Given the description of an element on the screen output the (x, y) to click on. 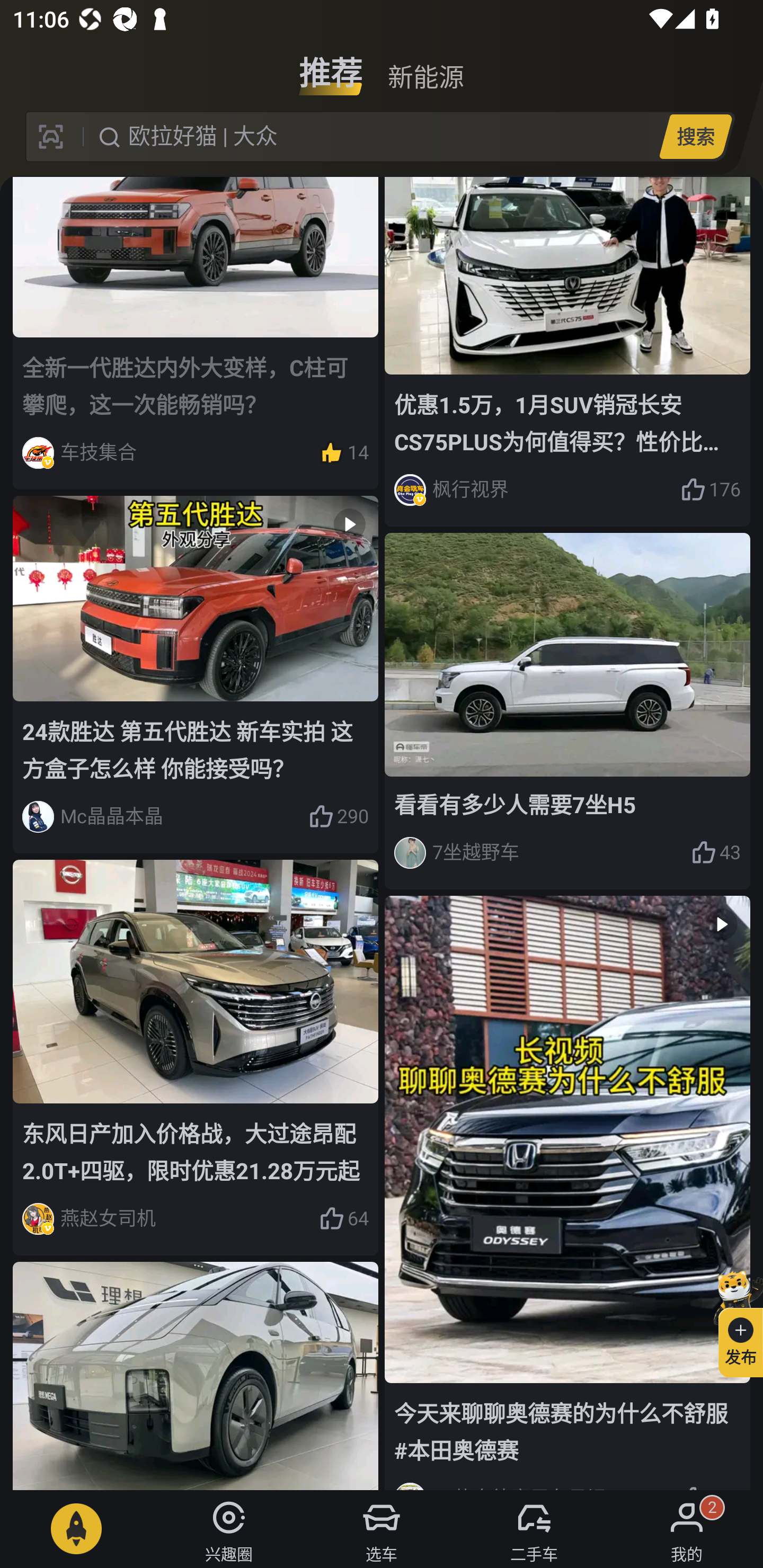
推荐 (330, 65)
新能源 (425, 65)
搜索 (695, 136)
全新一代胜达内外大变样，C柱可攀爬，这一次能畅销吗？ 车技集合 14 (195, 333)
优惠1.5万，1月SUV销冠长安CS75PLUS为何值得买？性价比是亮点！ 枫行视界 176 (567, 351)
14 (343, 452)
176 (710, 489)
 24款胜达 第五代胜达 新车实拍 这方盒子怎么样 你能接受吗？ Mc晶晶本晶 290 (195, 673)
看看有多少人需要7坐H5 7坐越野车 43 (567, 711)
290 (338, 816)
43 (715, 852)
东风日产加入价格战，大过途昂配2.0T+四驱，限时优惠21.28万元起 燕赵女司机 64 (195, 1057)
 今天来聊聊奥德赛的为什么不舒服#本田奥德赛 24款奥德赛用车日记 196 (567, 1192)
64 (343, 1218)
发布 (732, 1321)
 兴趣圈 (228, 1528)
 选车 (381, 1528)
 二手车 (533, 1528)
 我的 (686, 1528)
